Given the description of an element on the screen output the (x, y) to click on. 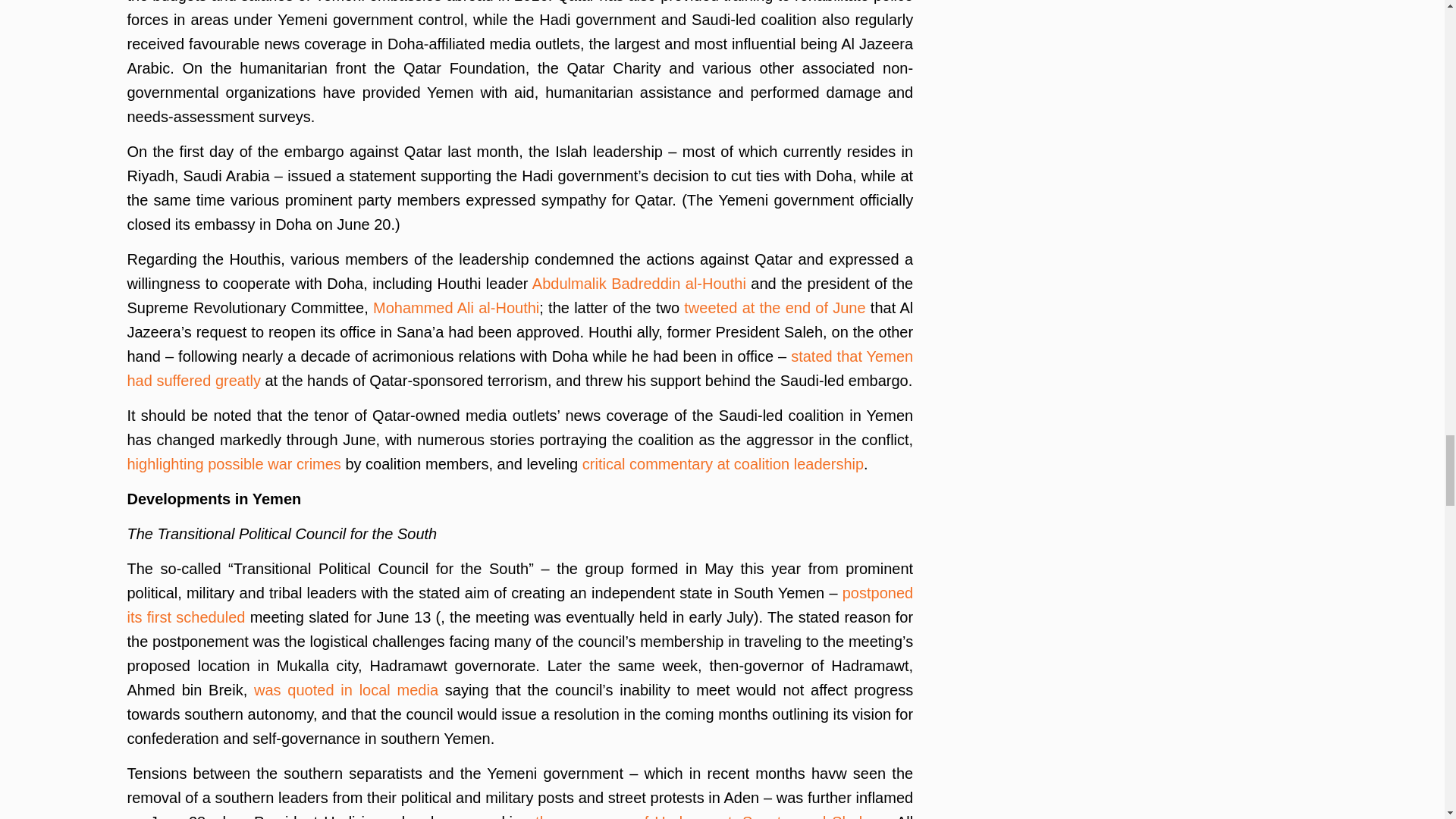
Mohammed Ali al-Houthi (455, 307)
Abdulmalik Badreddin al-Houthi (638, 283)
tweeted at the end of June (774, 307)
